Given the description of an element on the screen output the (x, y) to click on. 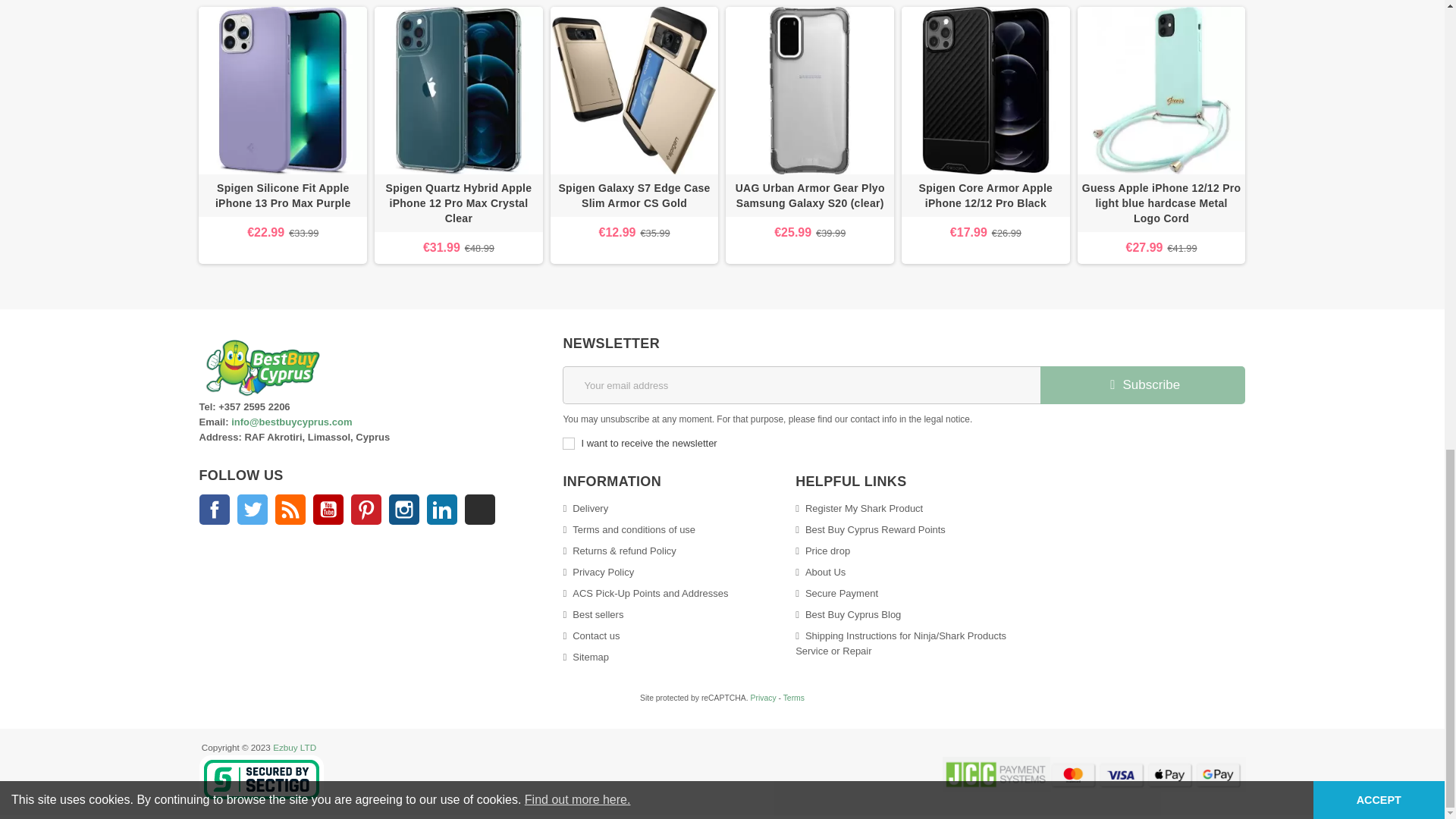
Spigen Silicone Fit Apple iPhone 13 Pro Max Purple (282, 90)
Spigen Silicone Fit Apple iPhone 13 Pro Max Purple (282, 195)
